Given the description of an element on the screen output the (x, y) to click on. 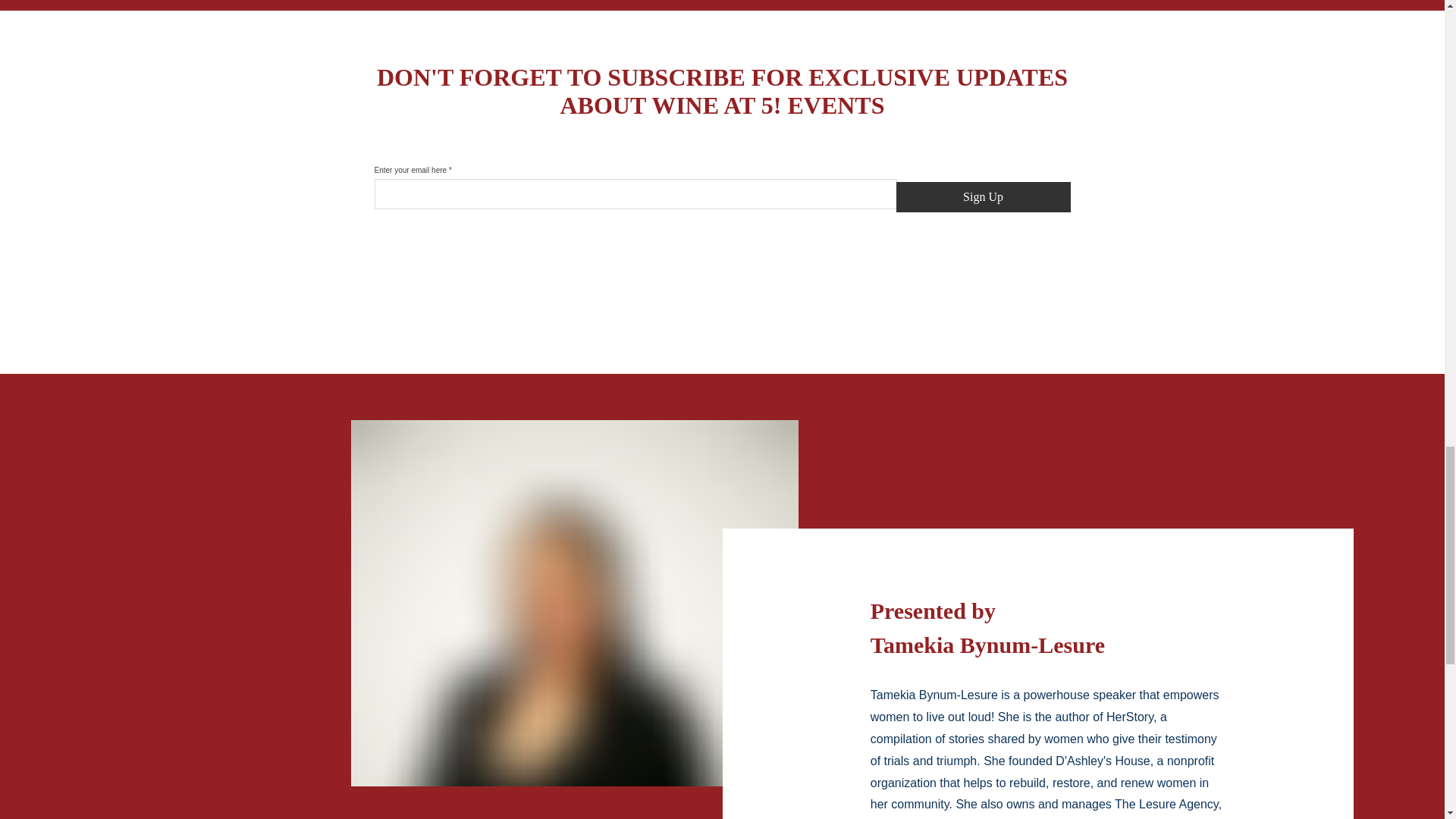
Sign Up (983, 196)
